Given the description of an element on the screen output the (x, y) to click on. 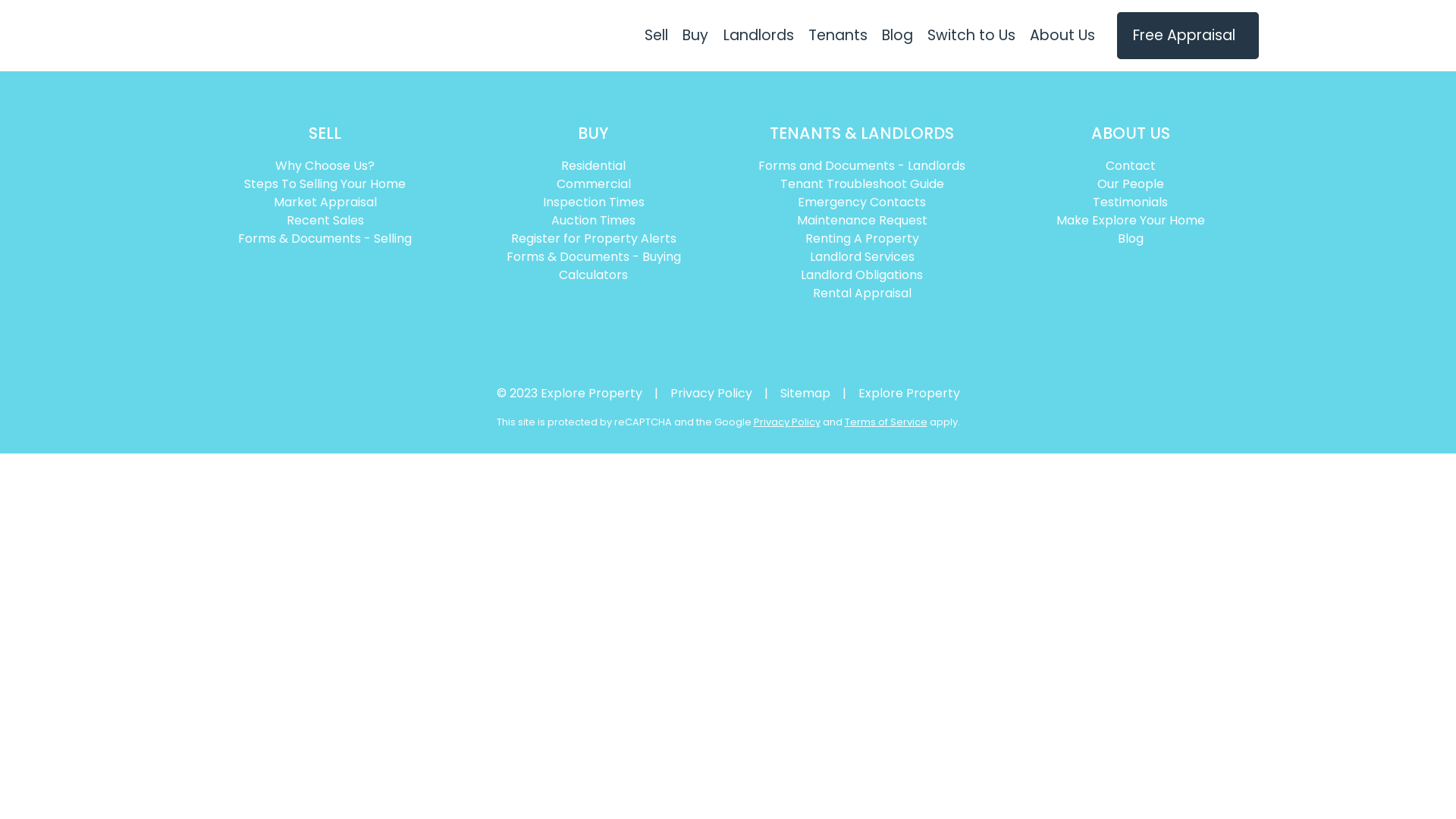
Steps To Selling Your Home Element type: text (325, 184)
Commercial Element type: text (593, 184)
Free Appraisal Element type: text (1187, 35)
Auction Times Element type: text (593, 220)
Maintenance Request Element type: text (862, 220)
Why Choose Us? Element type: text (325, 165)
Sitemap Element type: text (804, 392)
Landlords Element type: text (757, 35)
Rental Appraisal Element type: text (862, 293)
Renting A Property Element type: text (862, 238)
Landlord Services Element type: text (862, 256)
Terms of Service Element type: text (885, 421)
Buy Element type: text (695, 35)
Calculators Element type: text (593, 275)
Testimonials Element type: text (1130, 202)
Recent Sales Element type: text (325, 220)
Tenants Element type: text (837, 35)
Forms and Documents - Landlords Element type: text (862, 165)
Register for Property Alerts Element type: text (593, 238)
Tenant Troubleshoot Guide Element type: text (862, 184)
Residential Element type: text (593, 165)
Emergency Contacts Element type: text (862, 202)
Sell Element type: text (656, 35)
Inspection Times Element type: text (593, 202)
Contact Element type: text (1130, 165)
Blog Element type: text (896, 35)
Forms & Documents - Buying Element type: text (593, 256)
Our People Element type: text (1130, 184)
Forms & Documents - Selling Element type: text (325, 238)
Switch to Us Element type: text (970, 35)
Explore Property Element type: text (909, 392)
Privacy Policy Element type: text (786, 421)
Landlord Obligations Element type: text (862, 275)
Blog Element type: text (1130, 238)
Privacy Policy Element type: text (711, 392)
Make Explore Your Home Element type: text (1130, 220)
Market Appraisal Element type: text (325, 202)
About Us Element type: text (1062, 35)
